Given the description of an element on the screen output the (x, y) to click on. 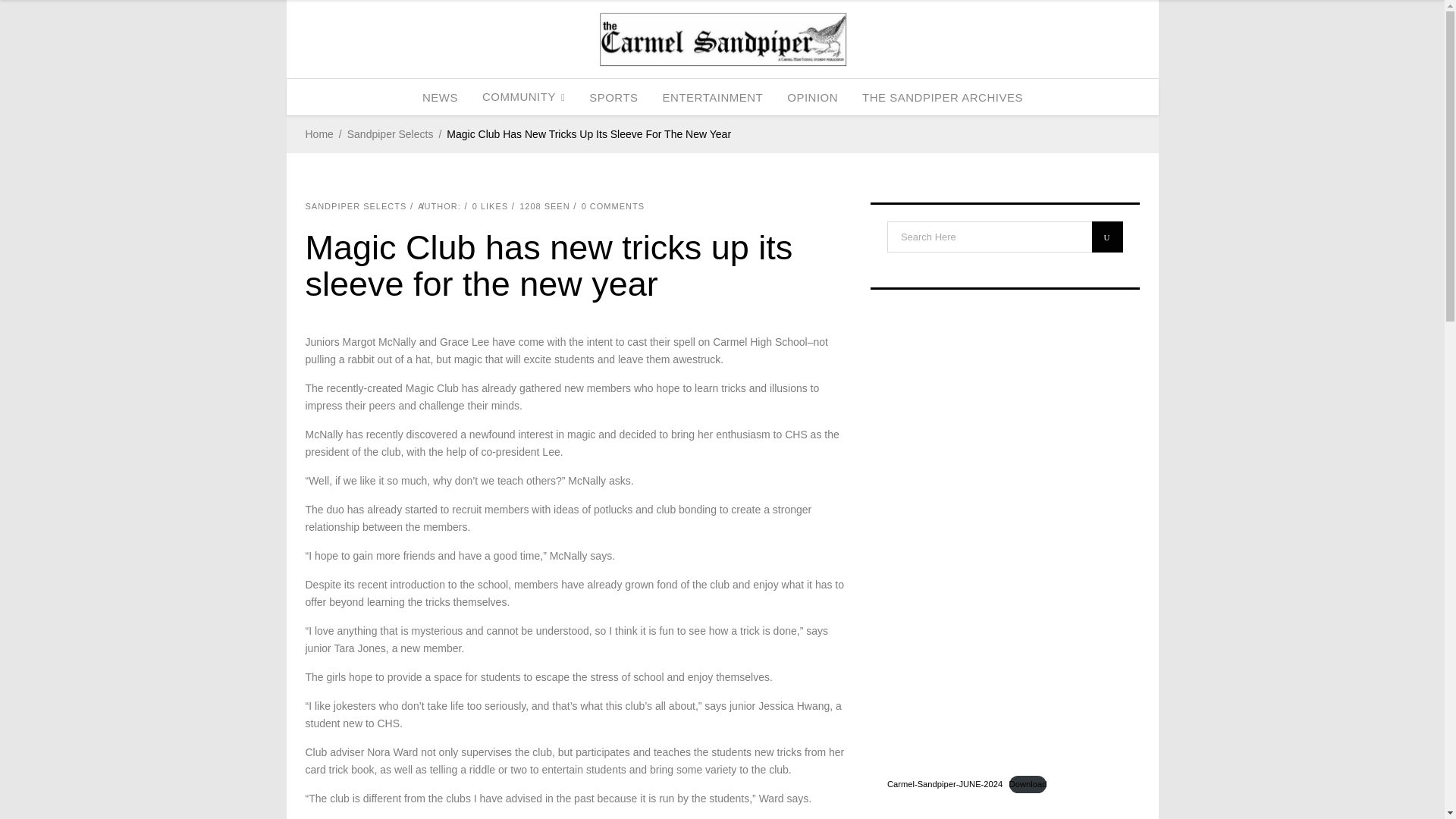
ENTERTAINMENT (713, 96)
SANDPIPER SELECTS (355, 205)
U (1107, 236)
NEWS (440, 96)
THE SANDPIPER ARCHIVES (942, 96)
COMMUNITY (523, 96)
U (1107, 236)
0 COMMENTS (612, 205)
Home (318, 134)
SPORTS (612, 96)
